Given the description of an element on the screen output the (x, y) to click on. 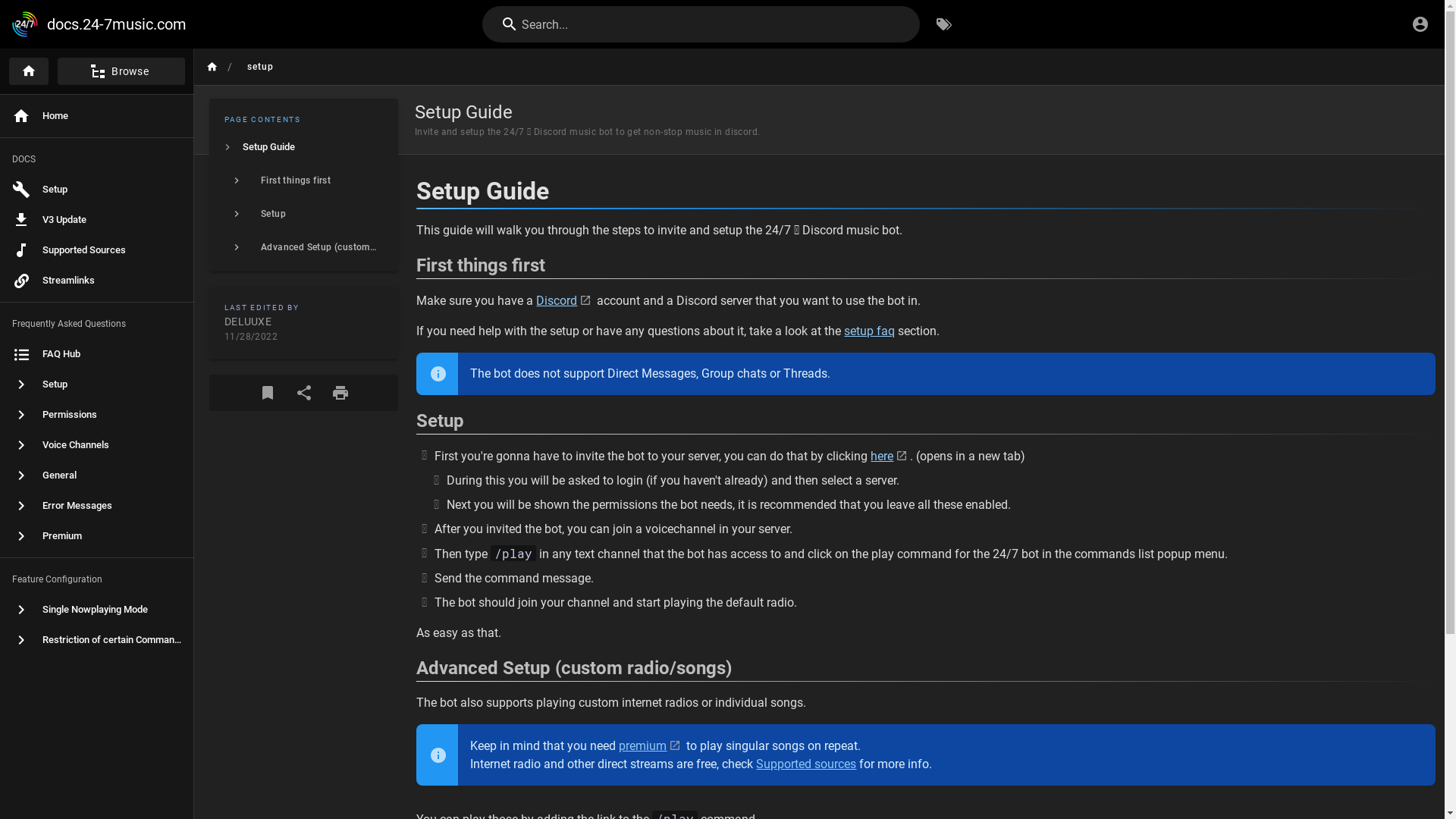
Streamlinks Element type: text (97, 280)
Voice Channels Element type: text (97, 444)
Supported sources Element type: text (813, 761)
V3 Update Element type: text (97, 219)
Single Nowplaying Mode Element type: text (97, 609)
Setup Element type: text (97, 384)
Setup Element type: text (97, 189)
Discord Element type: text (564, 299)
Restriction of certain Commands Element type: text (97, 639)
Error Messages Element type: text (97, 505)
setup faq Element type: text (874, 329)
Browse Element type: text (116, 70)
Premium Element type: text (97, 535)
setup Element type: text (250, 66)
General Element type: text (97, 475)
Supported Sources Element type: text (97, 250)
premium Element type: text (649, 743)
Home Element type: text (97, 115)
FAQ Hub Element type: text (97, 353)
here Element type: text (893, 454)
Permissions Element type: text (97, 414)
